Given the description of an element on the screen output the (x, y) to click on. 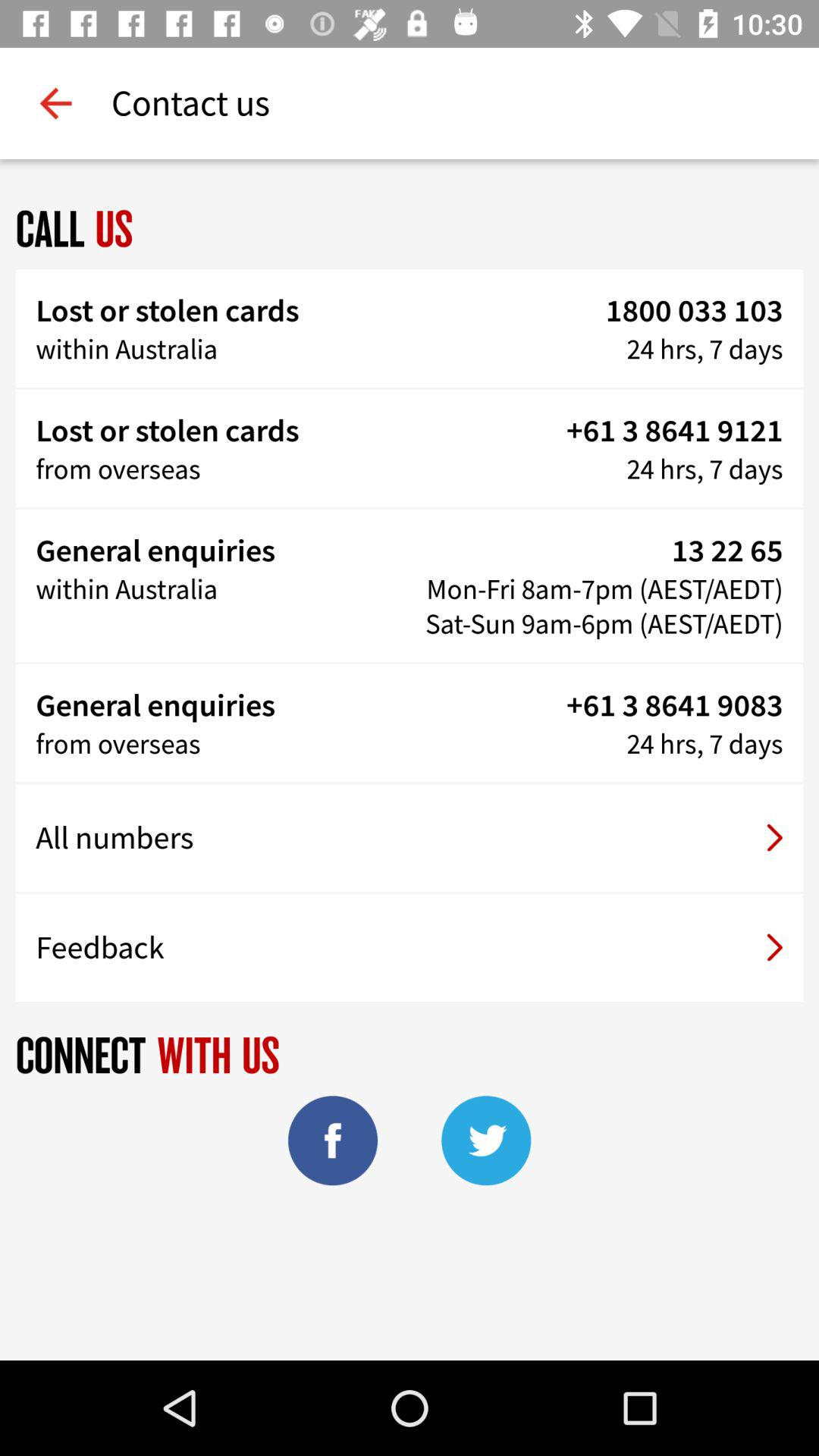
click on twitter icon at the bottom of the page (486, 1141)
